Given the description of an element on the screen output the (x, y) to click on. 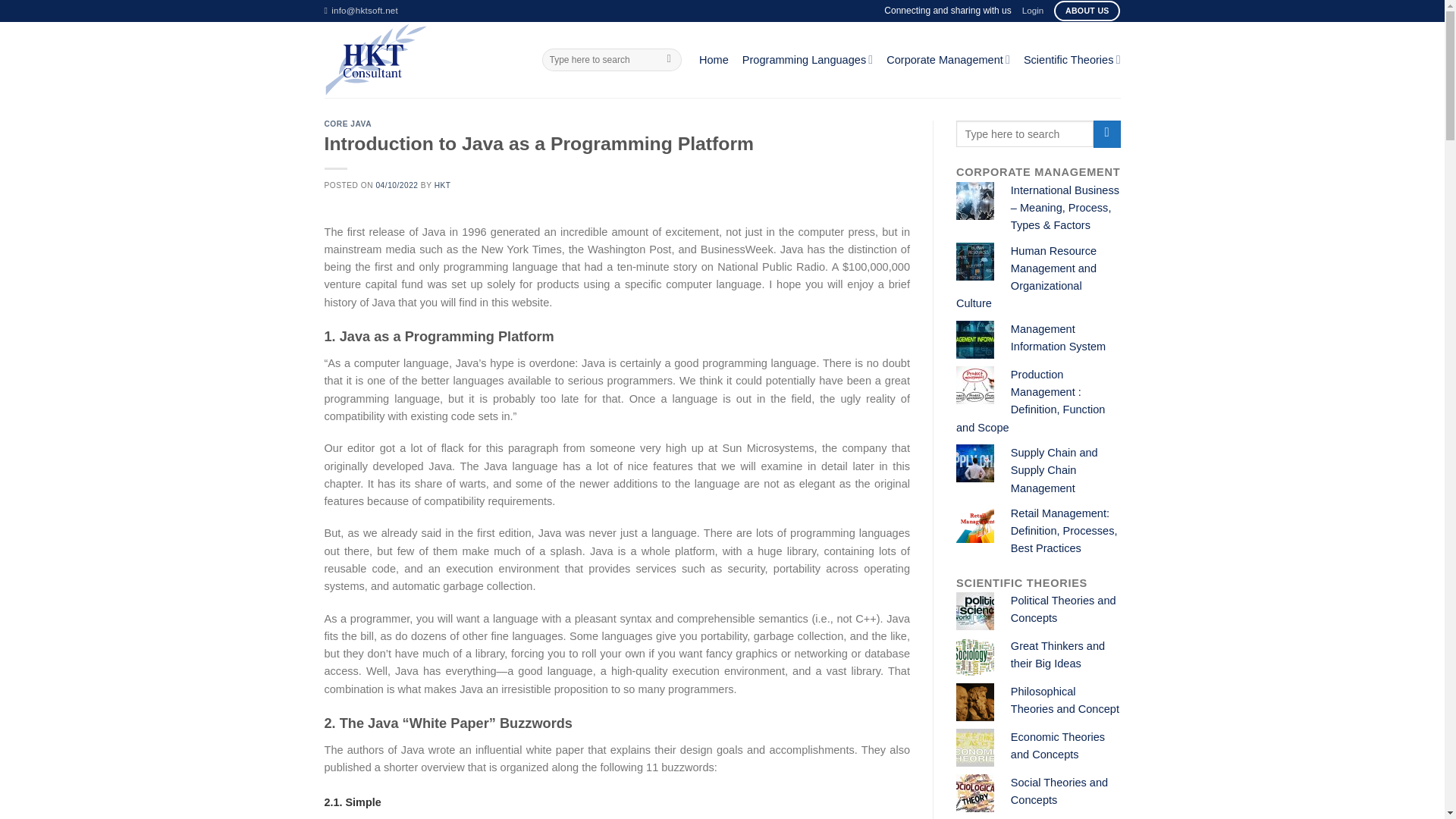
Home (713, 59)
Login (1032, 11)
Programming Languages (807, 59)
ABOUT US (1086, 10)
HKT SOFT (421, 59)
